Given the description of an element on the screen output the (x, y) to click on. 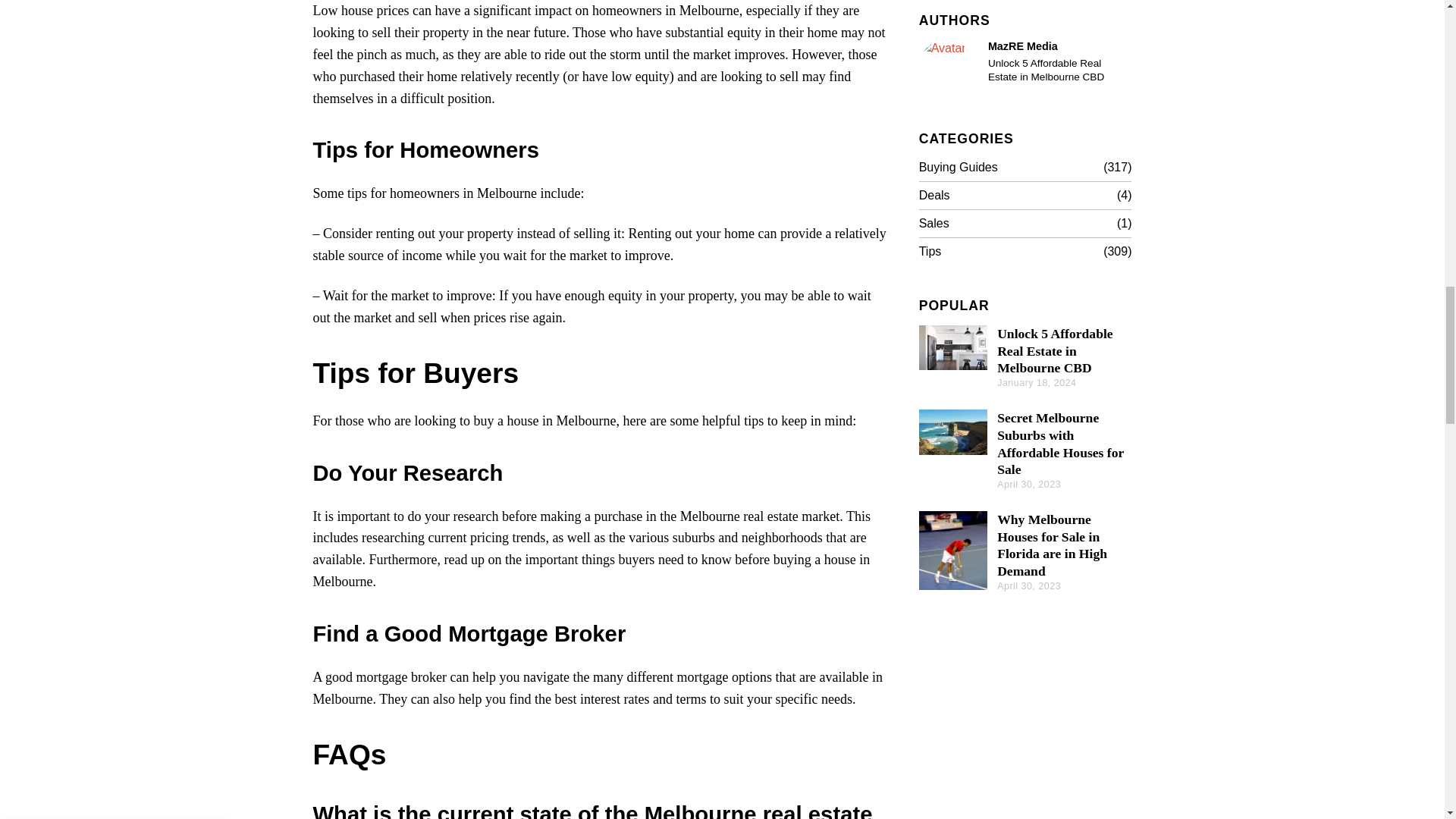
MazRE Media (946, 66)
